Given the description of an element on the screen output the (x, y) to click on. 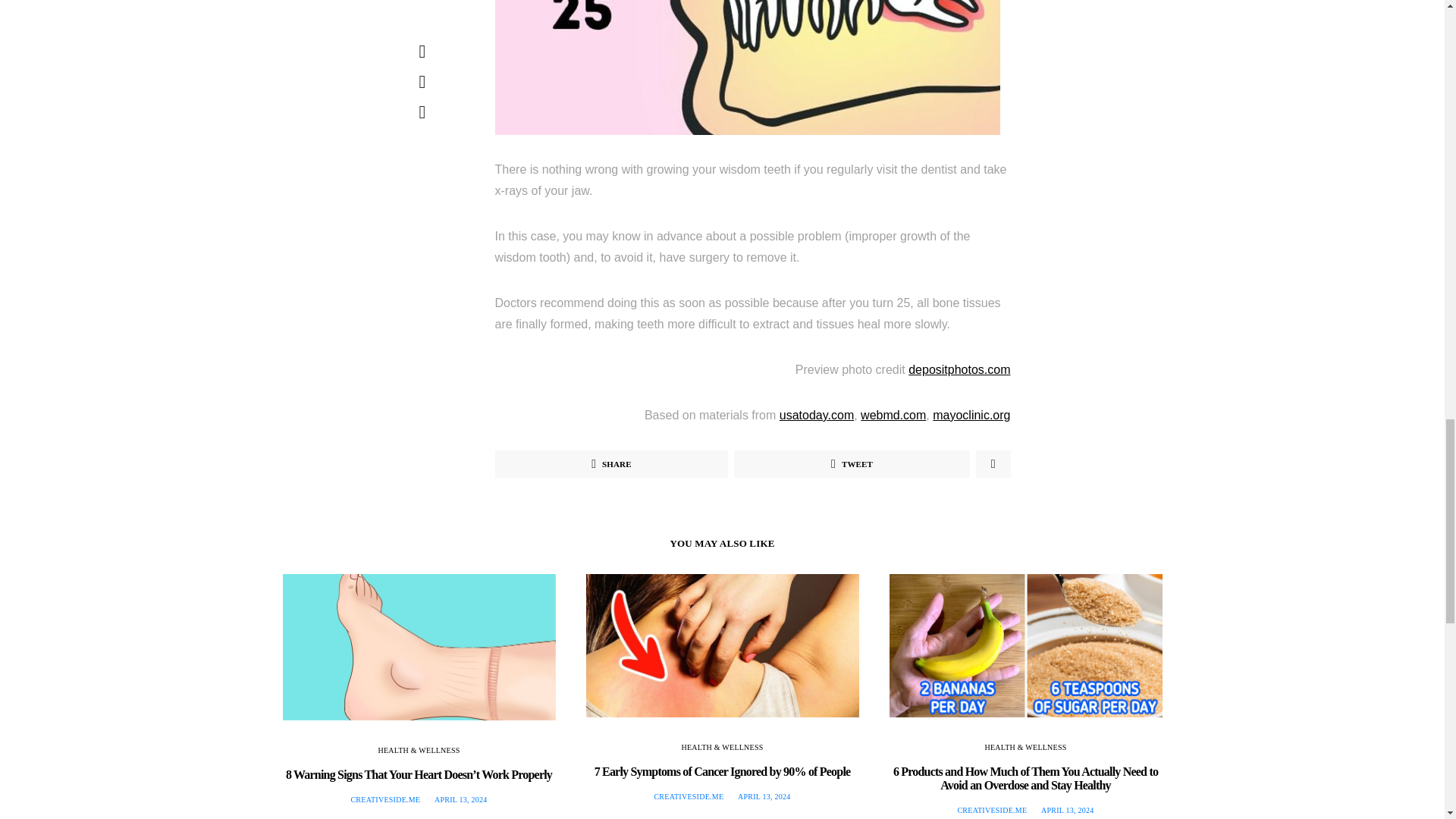
SHARE (611, 463)
TWEET (851, 463)
depositphotos.com (959, 369)
usatoday.com (815, 414)
View all posts by creativeside.me (385, 799)
View all posts by creativeside.me (688, 796)
View all posts by creativeside.me (991, 809)
webmd.com (893, 414)
mayoclinic.org (971, 414)
